Given the description of an element on the screen output the (x, y) to click on. 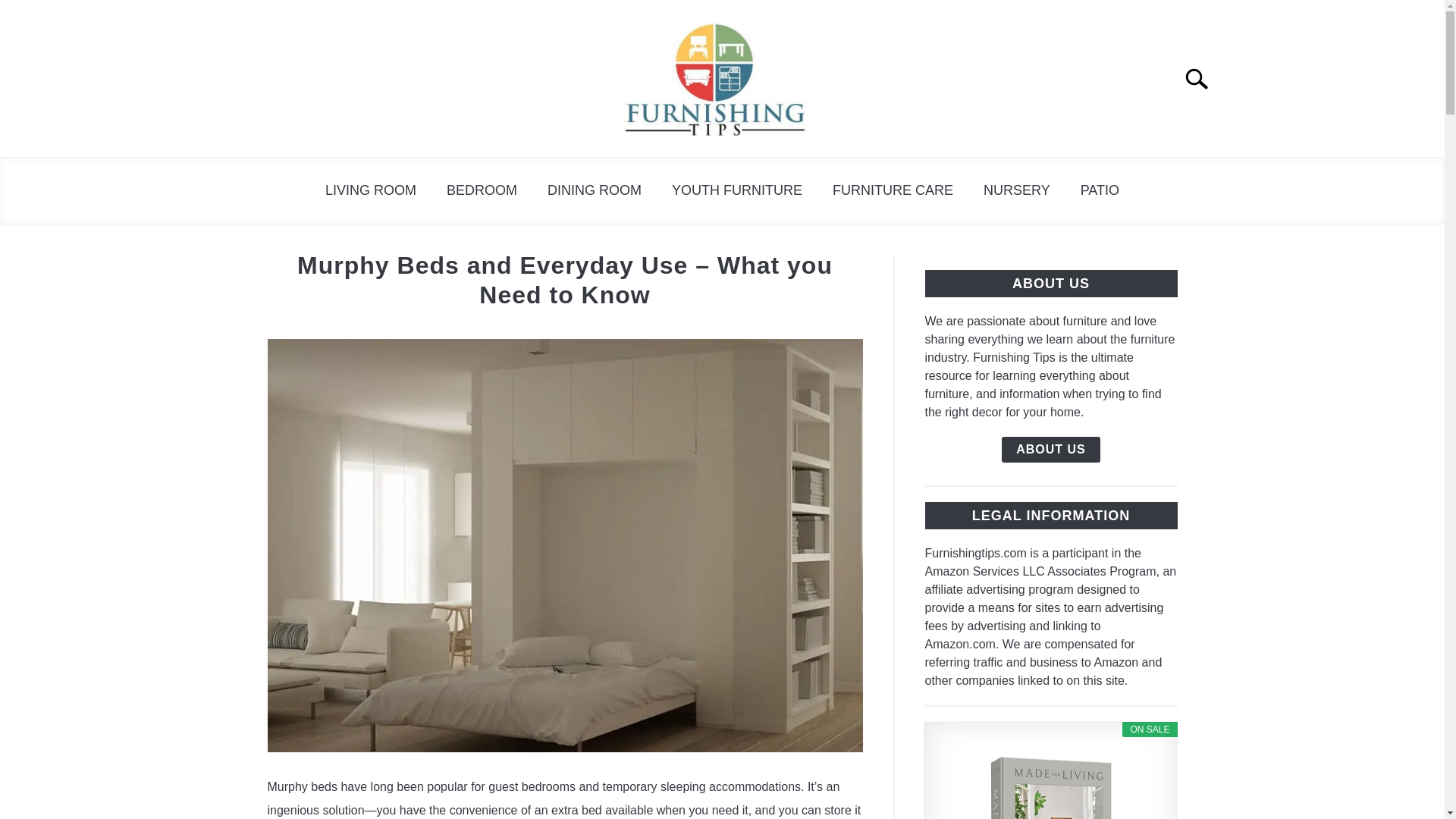
NURSERY (1016, 190)
FURNITURE CARE (892, 190)
ABOUT US (1050, 449)
BEDROOM (481, 190)
PATIO (1099, 190)
LIVING ROOM (370, 190)
Search (1203, 78)
Made for Living: Collected Interiors for All Sorts of... (1050, 780)
DINING ROOM (594, 190)
YOUTH FURNITURE (736, 190)
